Given the description of an element on the screen output the (x, y) to click on. 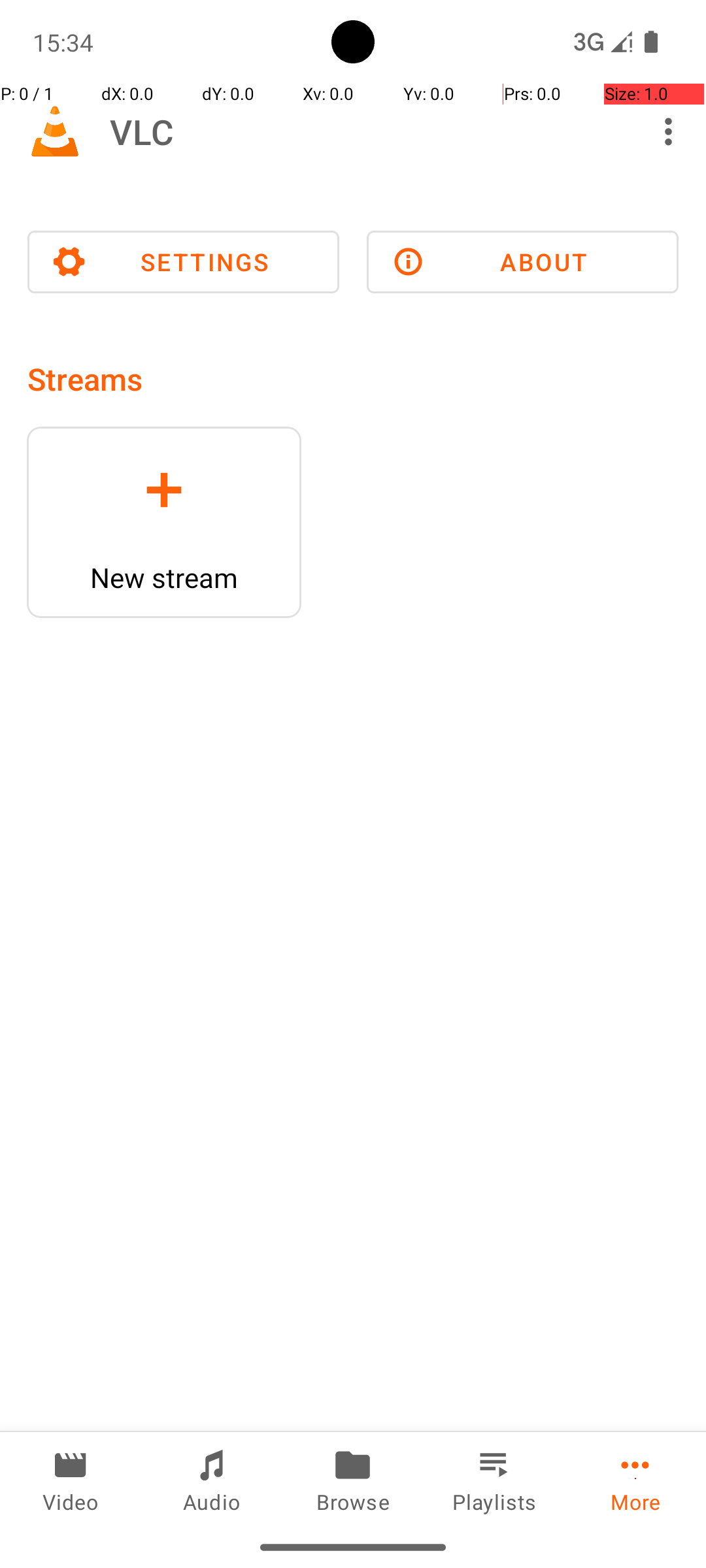
More options Element type: android.widget.ImageView (671, 131)
SETTINGS Element type: android.widget.Button (183, 261)
ABOUT Element type: android.widget.Button (522, 261)
Streams Element type: android.widget.TextView (84, 378)
Video Element type: android.widget.FrameLayout (70, 1478)
Audio Element type: android.widget.FrameLayout (211, 1478)
Browse Element type: android.widget.FrameLayout (352, 1478)
Playlists Element type: android.widget.FrameLayout (493, 1478)
More Element type: android.widget.FrameLayout (635, 1478)
New stream Element type: android.widget.TextView (163, 576)
